Given the description of an element on the screen output the (x, y) to click on. 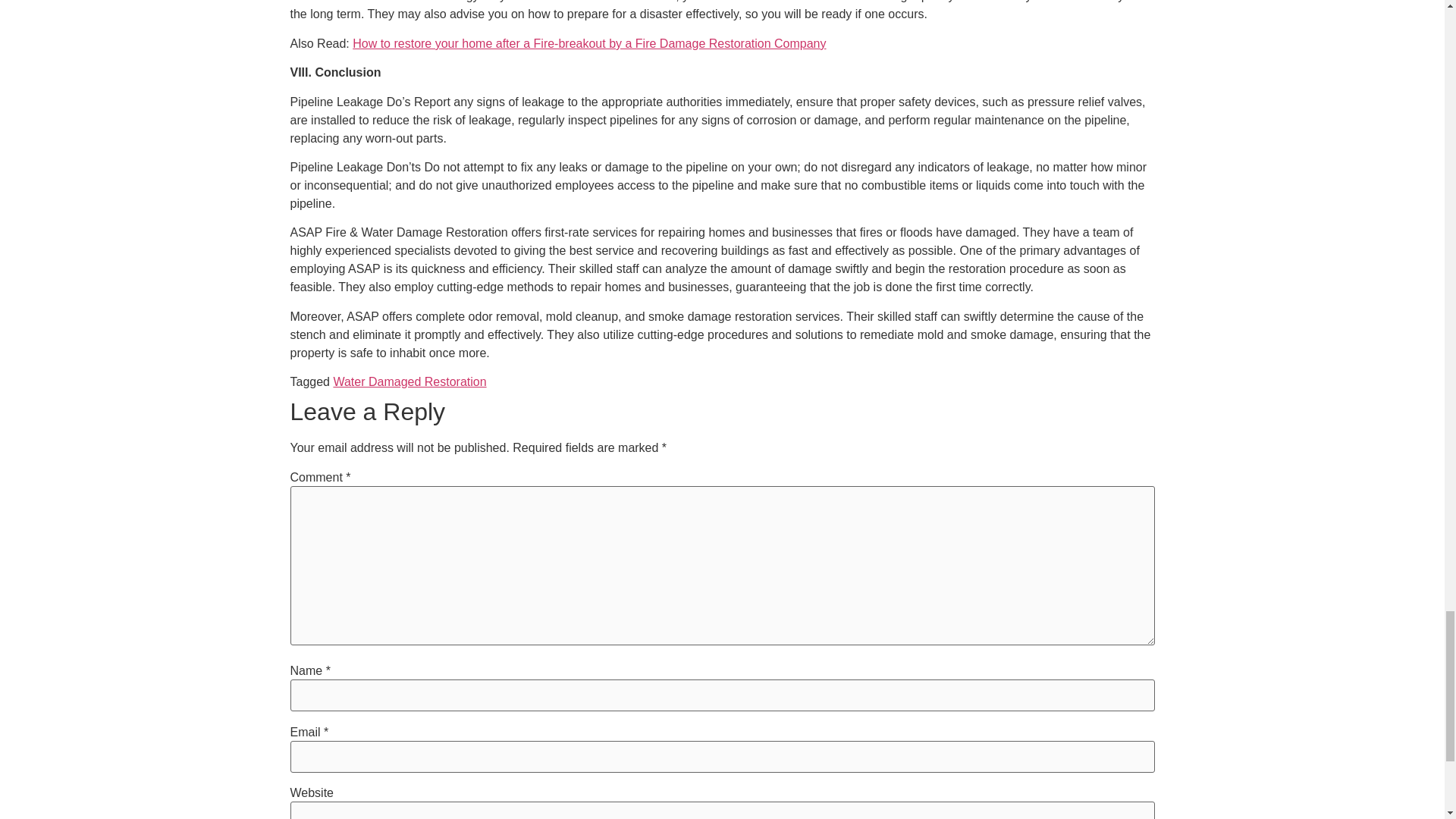
Water Damaged Restoration (409, 381)
